Given the description of an element on the screen output the (x, y) to click on. 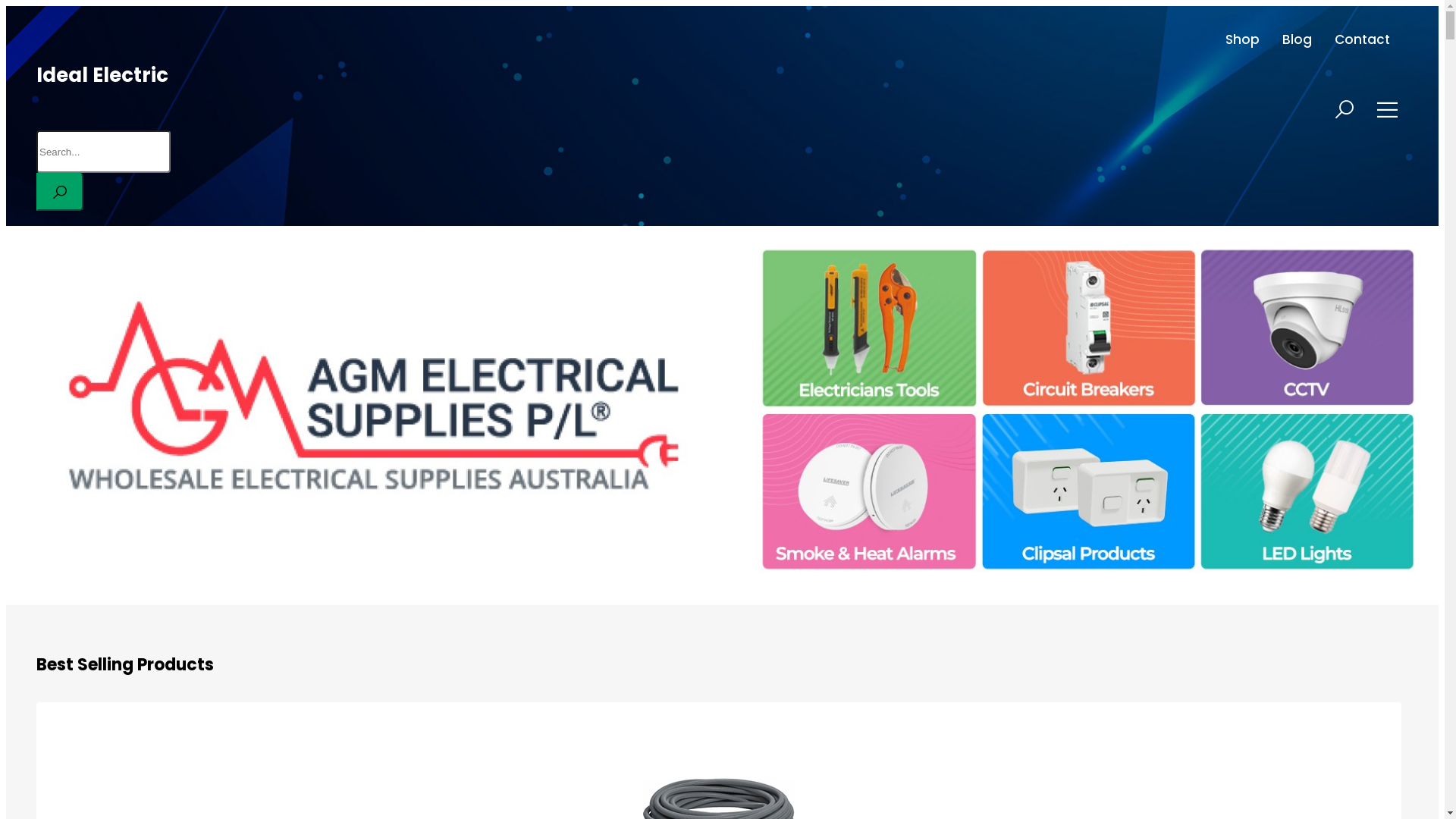
Shop Element type: text (1242, 39)
Blog Element type: text (1296, 39)
Contact Element type: text (1362, 39)
Ideal Electric Element type: text (102, 74)
